Given the description of an element on the screen output the (x, y) to click on. 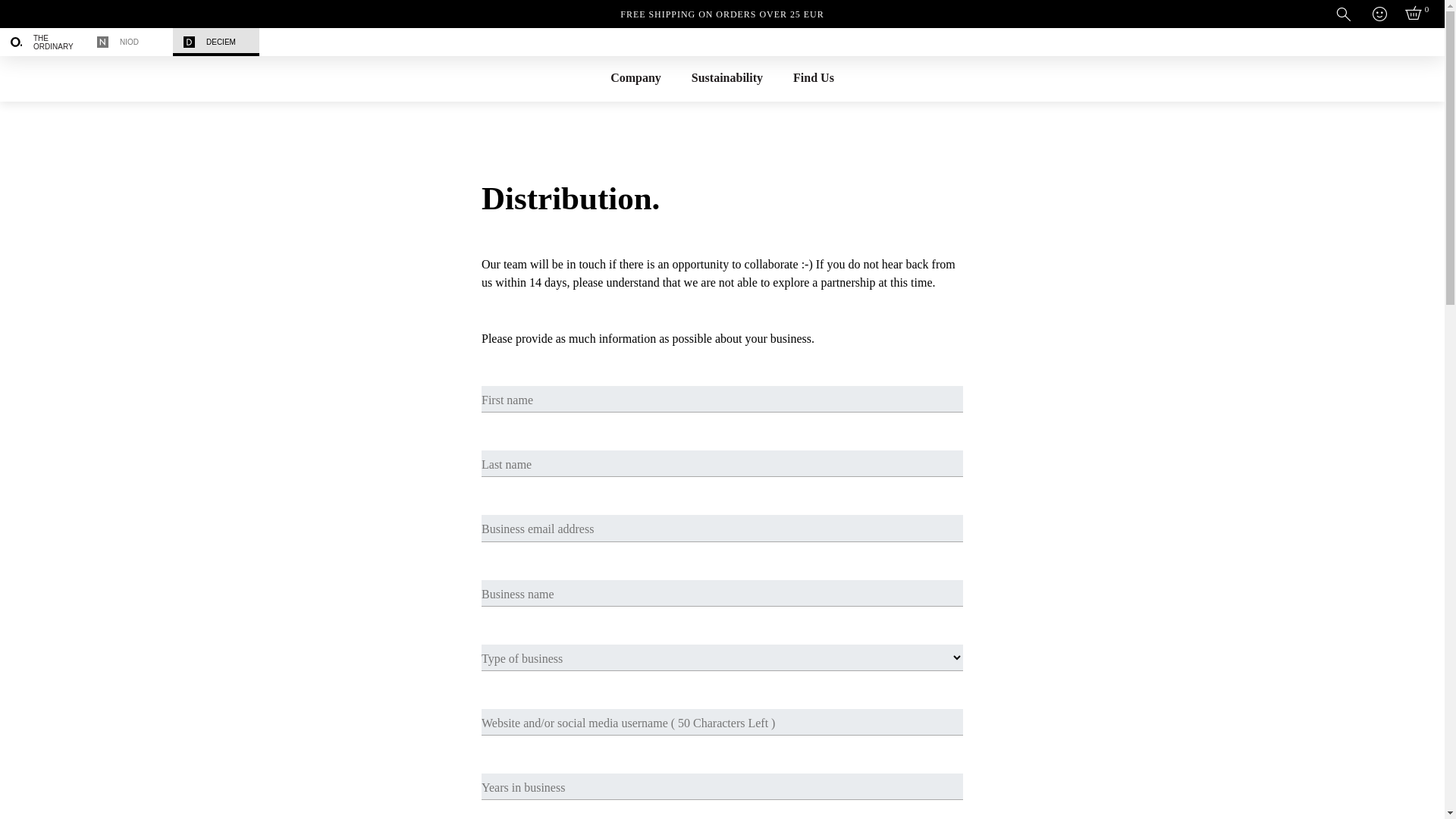
Next (866, 40)
NIOD (129, 41)
THE ORDINARY (42, 41)
Cart 0 Items (1414, 13)
0 (1414, 13)
Find Us (812, 77)
Open search form (1344, 13)
Find Us (812, 77)
DECIEM (216, 41)
Login (1379, 15)
Previous (577, 40)
Login (1379, 15)
